Given the description of an element on the screen output the (x, y) to click on. 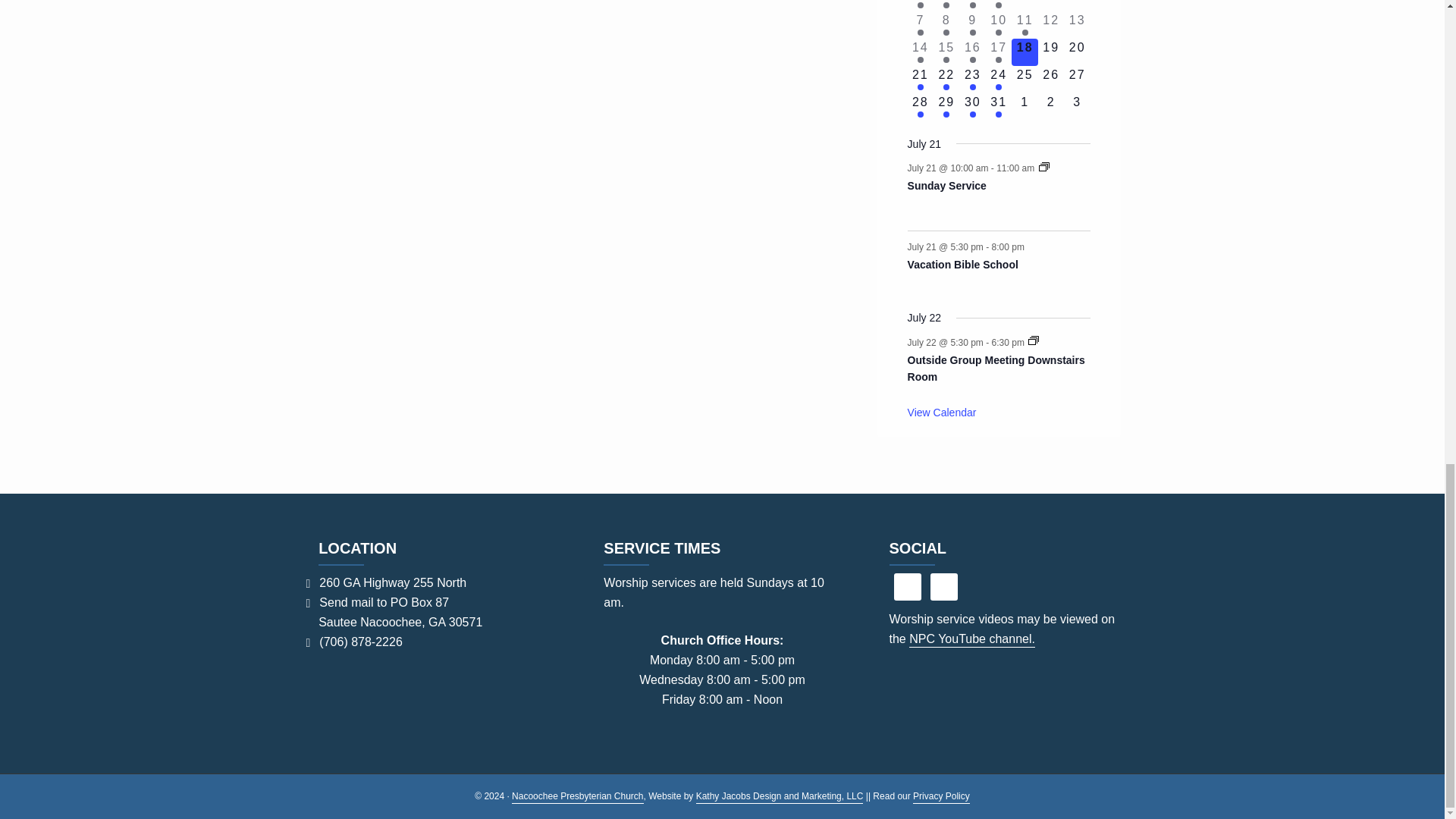
Has events (920, 5)
Event Series (1044, 166)
Event Series (1033, 339)
Has events (946, 5)
